Given the description of an element on the screen output the (x, y) to click on. 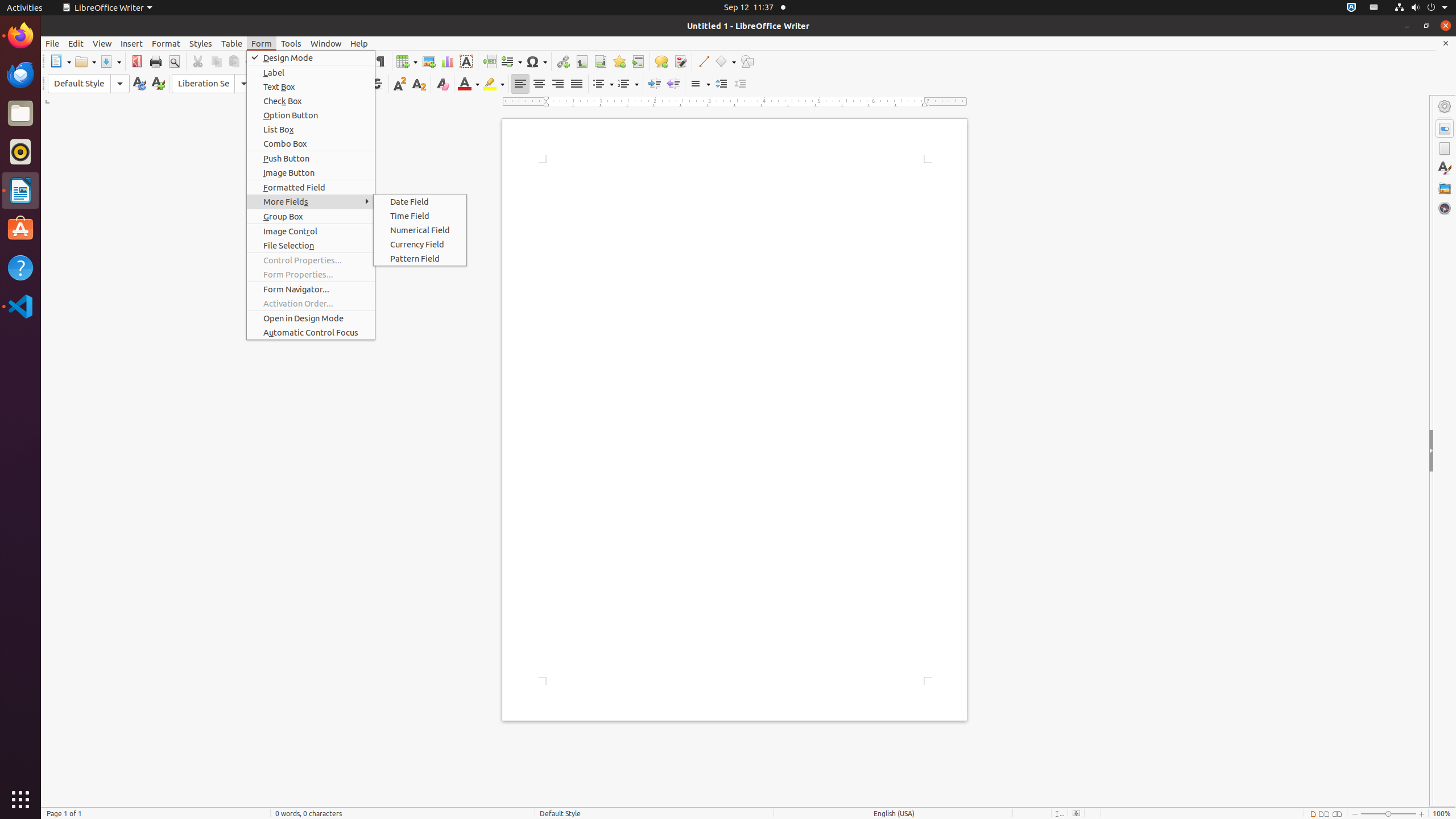
Find & Replace Element type: toggle-button (342, 61)
Cross-reference Element type: push-button (637, 61)
Print Element type: push-button (155, 61)
:1.72/StatusNotifierItem Element type: menu (1350, 7)
Numbering Element type: push-button (627, 83)
